Given the description of an element on the screen output the (x, y) to click on. 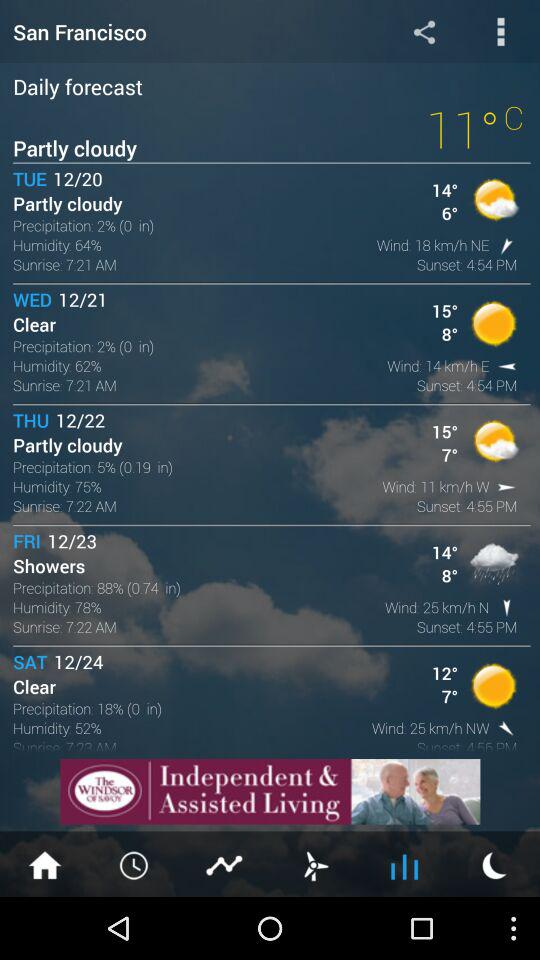
go to share option (424, 31)
